Given the description of an element on the screen output the (x, y) to click on. 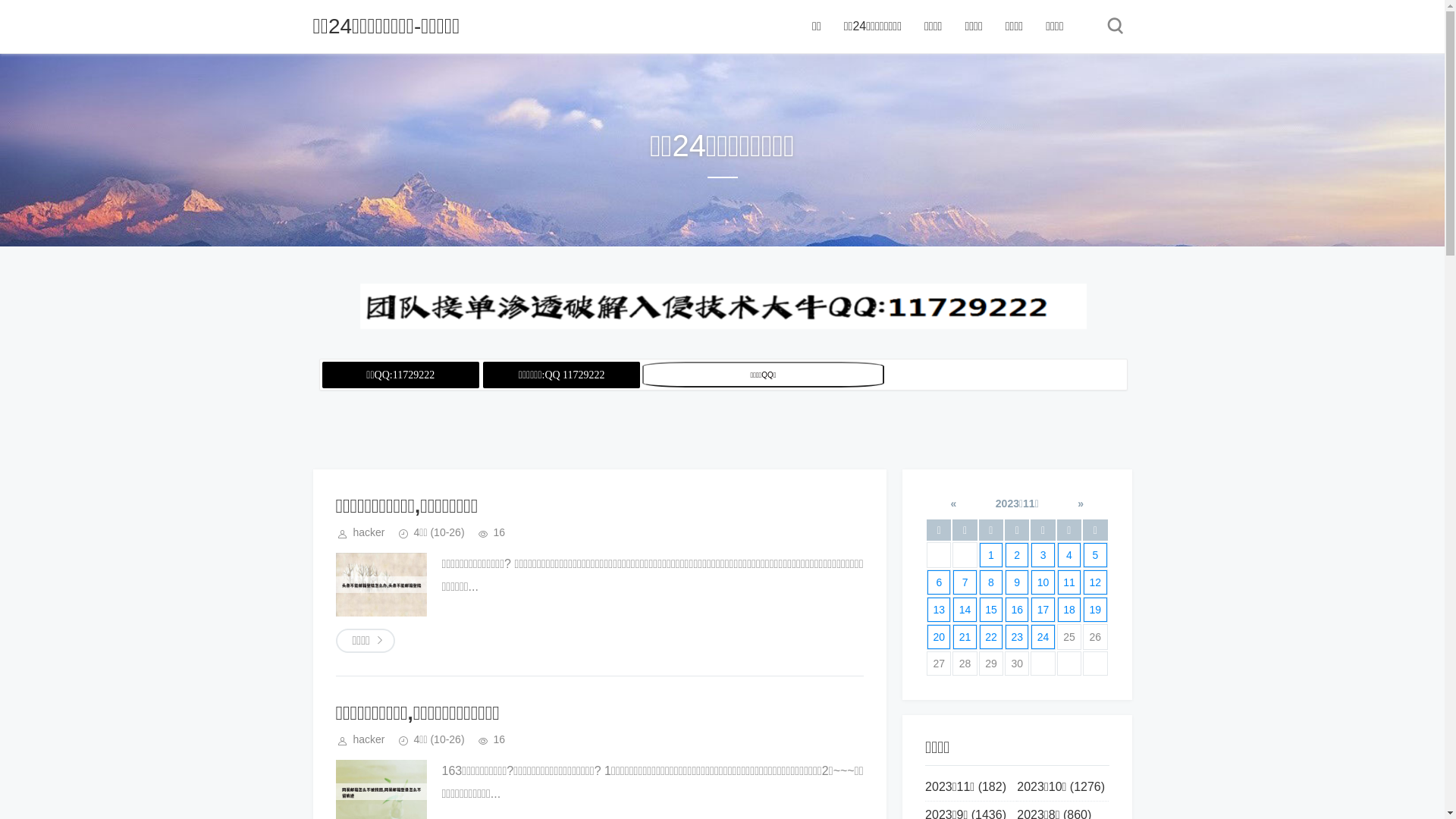
5 Element type: text (1094, 554)
6 Element type: text (938, 582)
16 Element type: text (1016, 609)
13 Element type: text (938, 609)
15 Element type: text (990, 609)
9 Element type: text (1016, 582)
22 Element type: text (990, 636)
20 Element type: text (938, 636)
1 Element type: text (990, 554)
11 Element type: text (1068, 582)
12 Element type: text (1094, 582)
24 Element type: text (1042, 636)
23 Element type: text (1016, 636)
2 Element type: text (1016, 554)
21 Element type: text (964, 636)
7 Element type: text (964, 582)
18 Element type: text (1068, 609)
4 Element type: text (1068, 554)
19 Element type: text (1094, 609)
8 Element type: text (990, 582)
17 Element type: text (1042, 609)
3 Element type: text (1042, 554)
10 Element type: text (1042, 582)
14 Element type: text (964, 609)
